Given the description of an element on the screen output the (x, y) to click on. 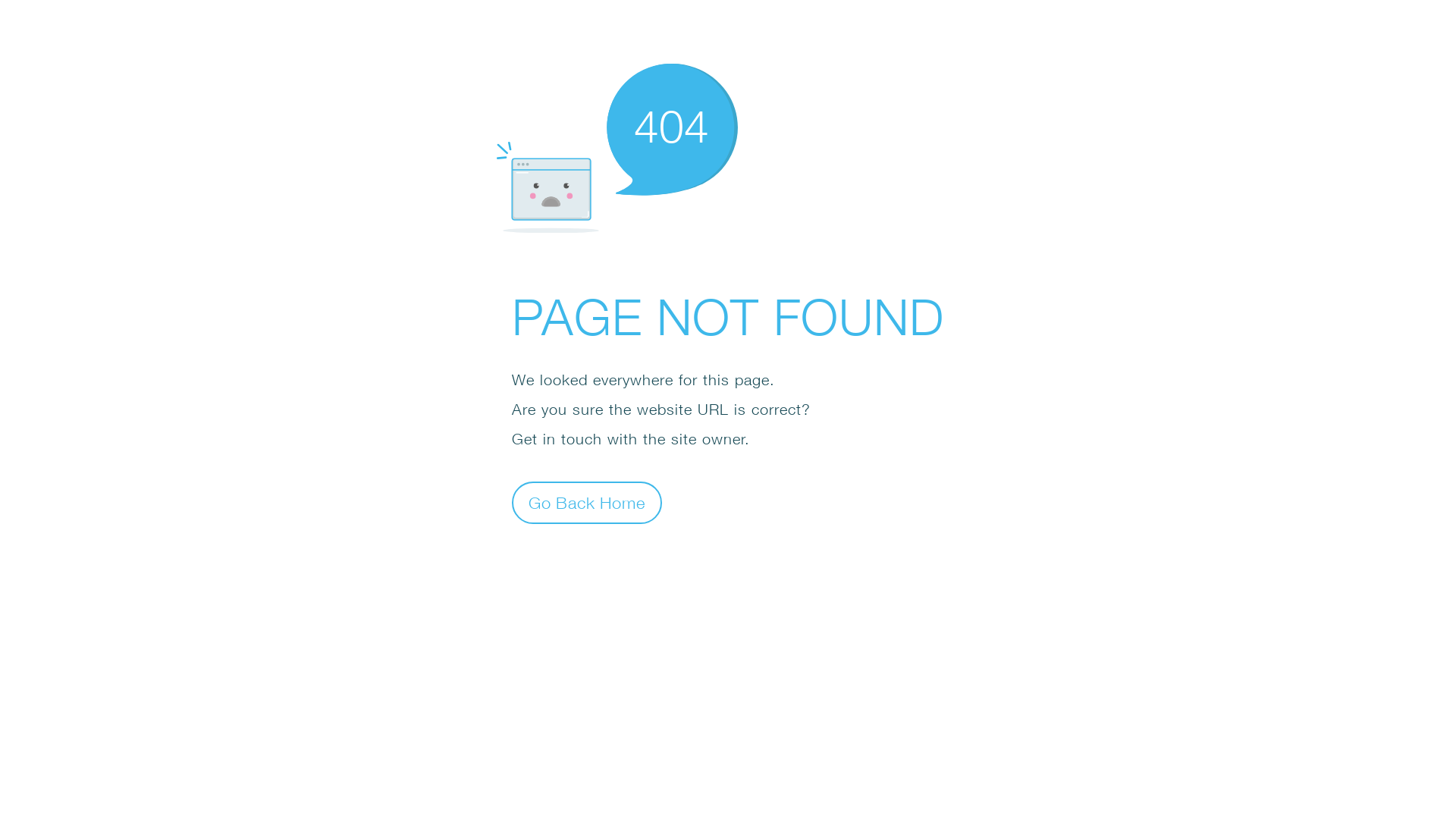
Go Back Home Element type: text (586, 502)
